Given the description of an element on the screen output the (x, y) to click on. 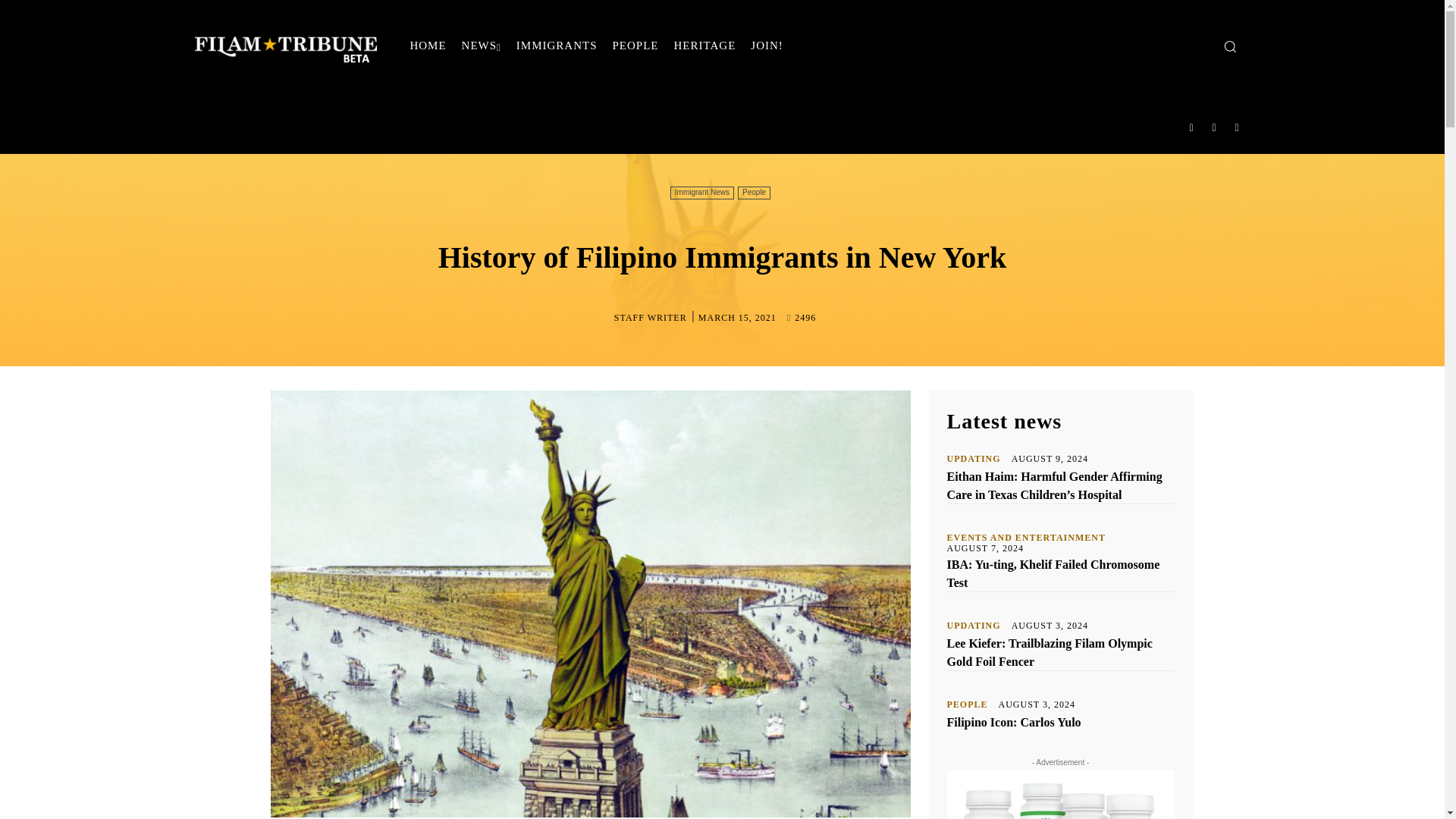
Facebook (1191, 126)
JOIN! (766, 44)
filam tribune (284, 45)
PEOPLE (635, 44)
HERITAGE (705, 44)
Twitter (1237, 126)
People (754, 192)
HOME (426, 44)
Immigrant News (701, 192)
